Given the description of an element on the screen output the (x, y) to click on. 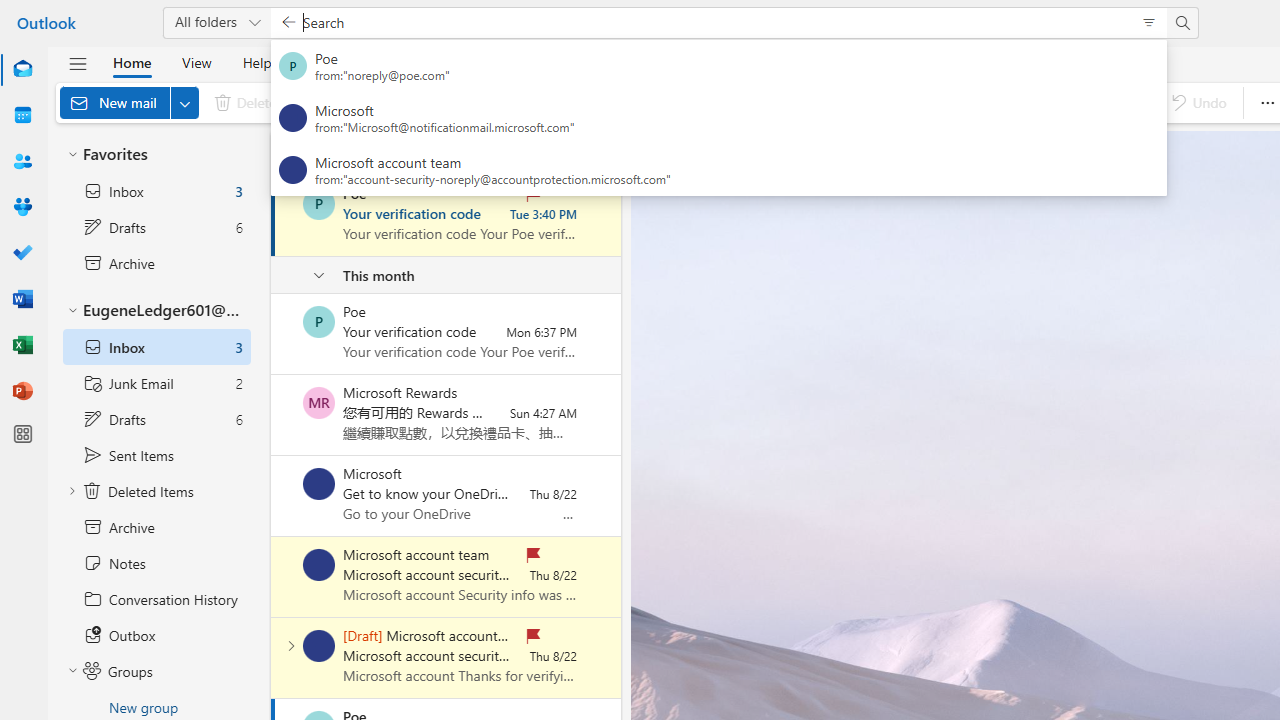
Discover groups (1076, 102)
Undo (1198, 102)
People (22, 161)
Sorted: By Date (593, 152)
Microsoft (319, 483)
Microsoft account team (319, 645)
Search for email, meetings, files and more. (712, 21)
Mark all as read (788, 102)
Delete (250, 102)
Expand conversation (291, 646)
New mail (129, 102)
Filter (561, 152)
Archive (343, 102)
System (10, 11)
More apps (22, 434)
